Given the description of an element on the screen output the (x, y) to click on. 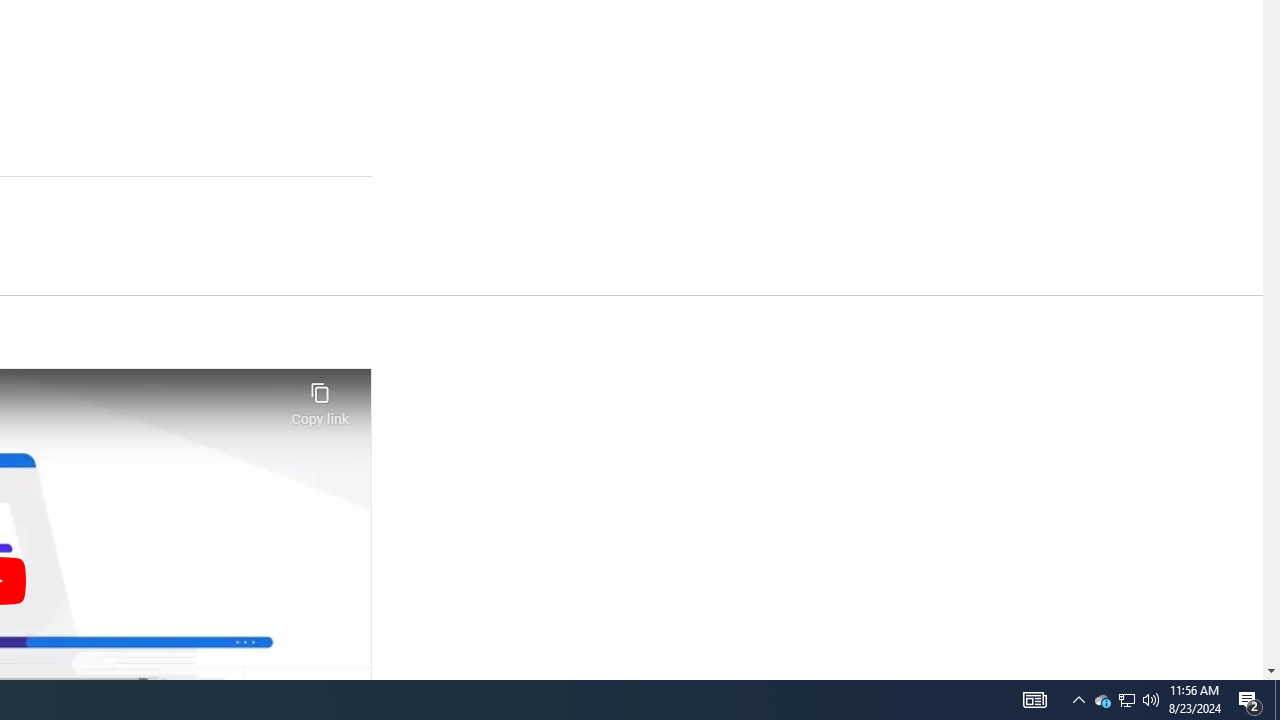
Copy link (319, 398)
